Given the description of an element on the screen output the (x, y) to click on. 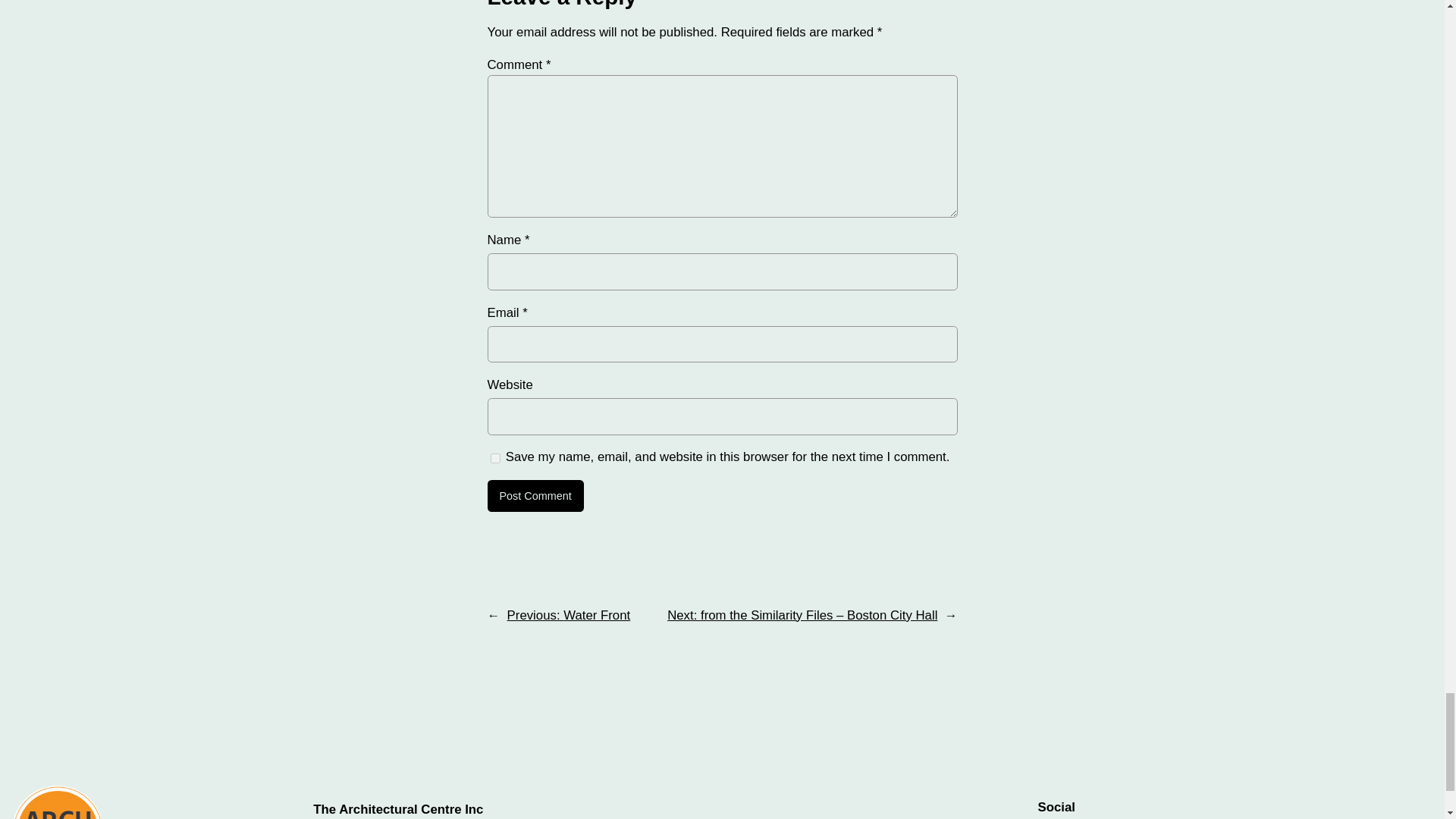
Post Comment (534, 495)
